Given the description of an element on the screen output the (x, y) to click on. 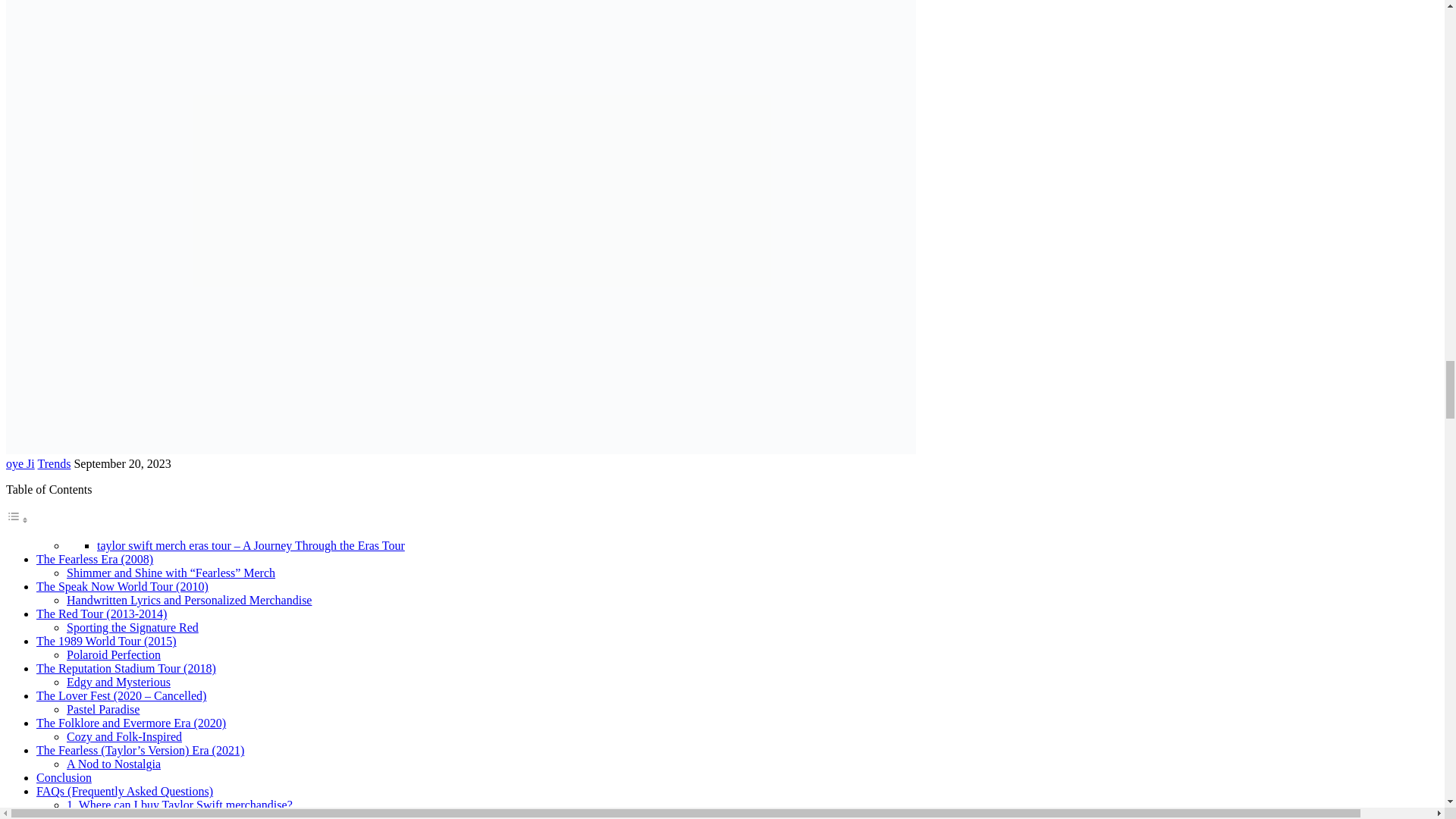
Polaroid Perfection (113, 654)
Edgy and Mysterious (118, 681)
Posts by oye Ji (19, 463)
Sporting the Signature Red (132, 626)
Handwritten Lyrics and Personalized Merchandise (188, 599)
